Given the description of an element on the screen output the (x, y) to click on. 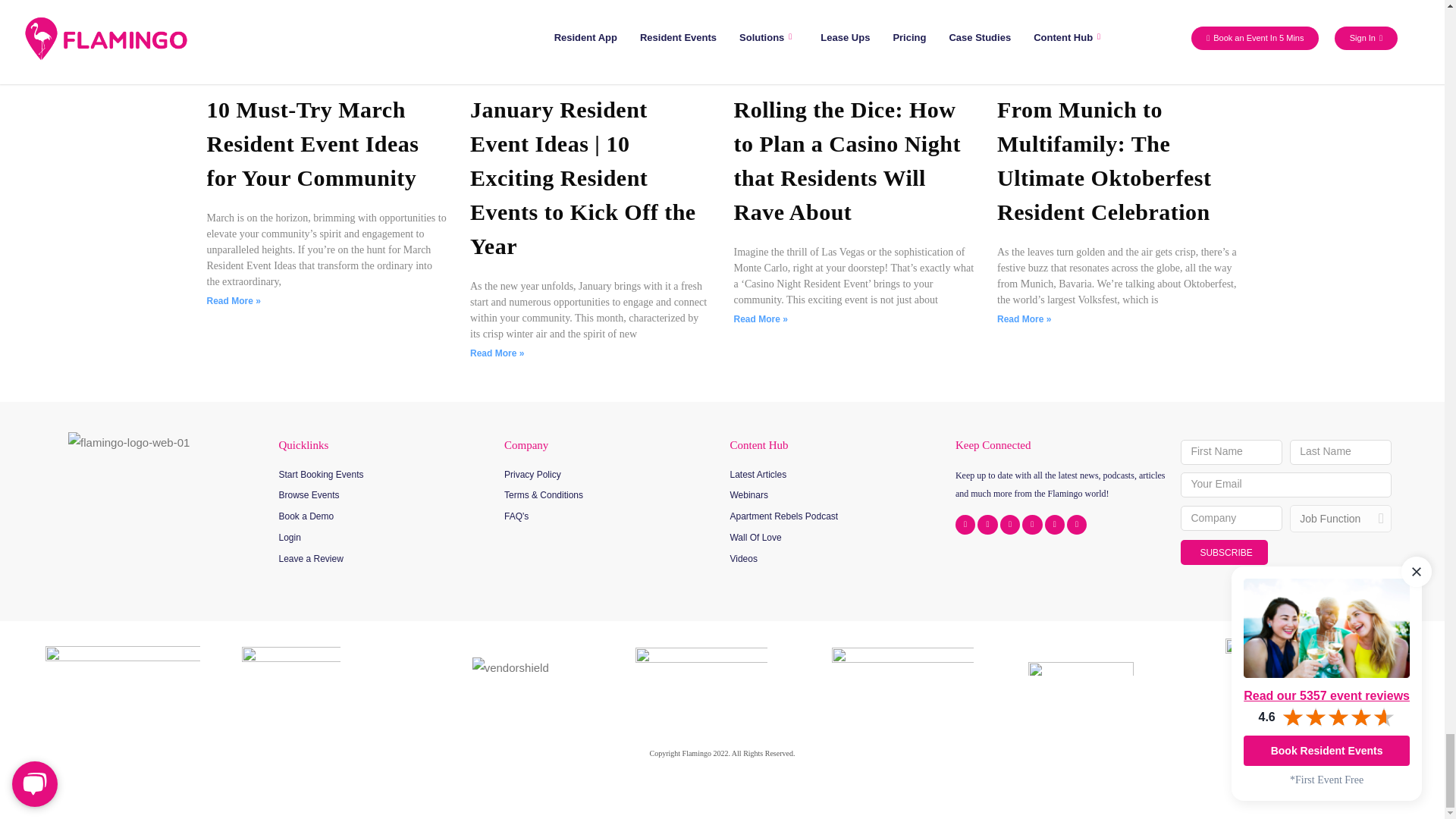
vendorshield (509, 668)
flamingo-logo-web-01 (128, 443)
